Given the description of an element on the screen output the (x, y) to click on. 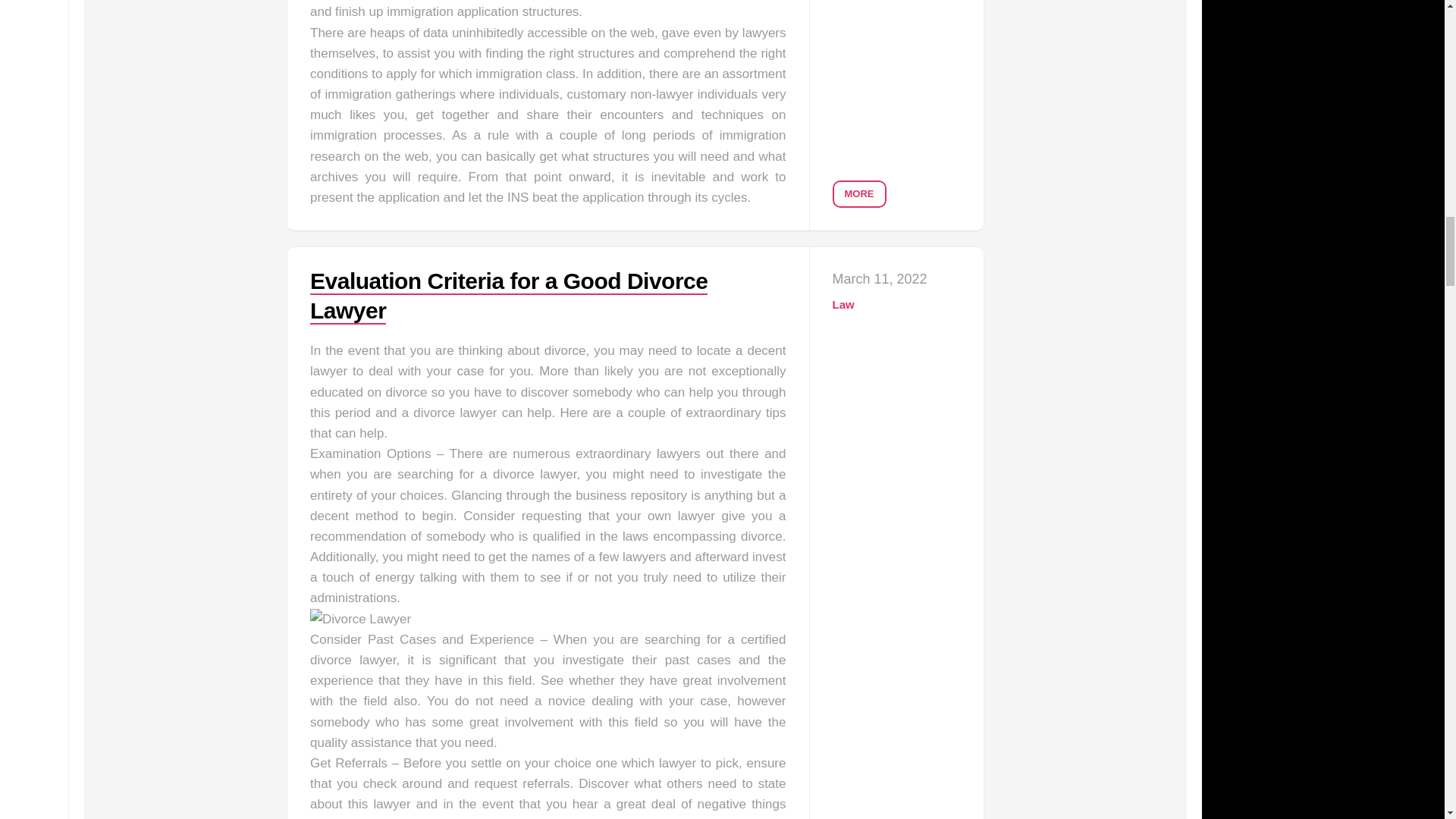
MORE (859, 194)
Evaluation Criteria for a Good Divorce Lawyer (508, 295)
Law (843, 304)
